Given the description of an element on the screen output the (x, y) to click on. 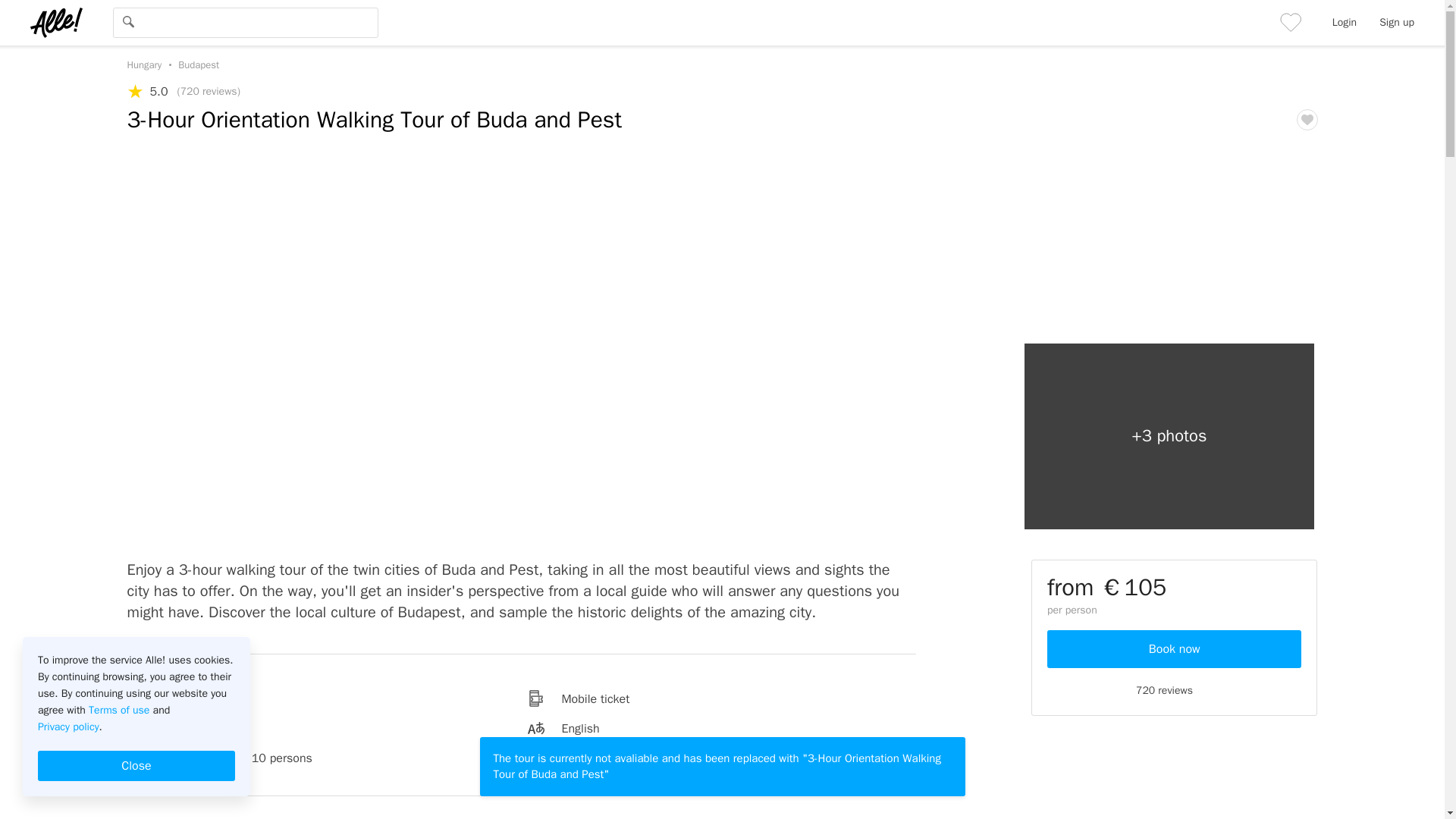
Book now (1173, 648)
Tours in Hungary (144, 64)
Tours in Budapest (193, 64)
Budapest (193, 64)
Hungary (144, 64)
720 reviews (1174, 690)
